Given the description of an element on the screen output the (x, y) to click on. 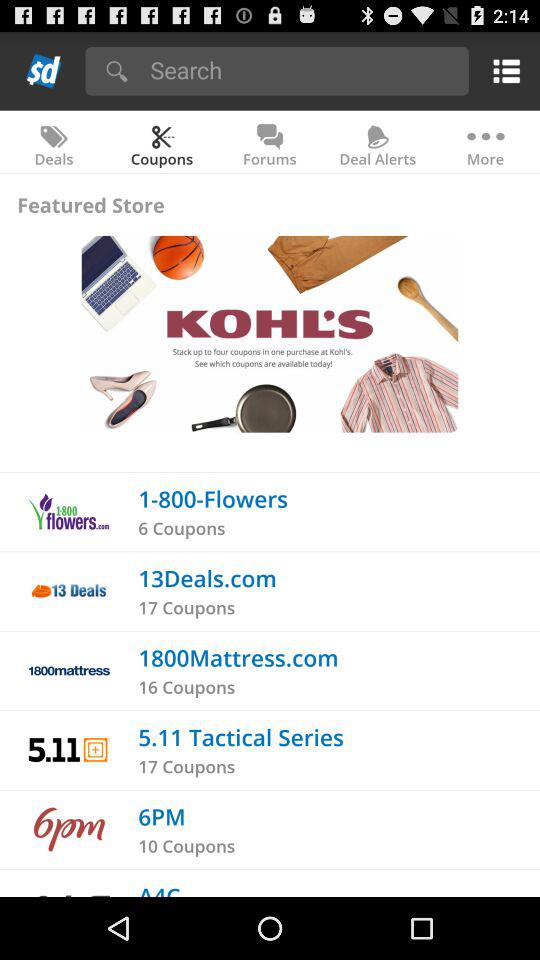
swipe to 6pm (161, 816)
